Given the description of an element on the screen output the (x, y) to click on. 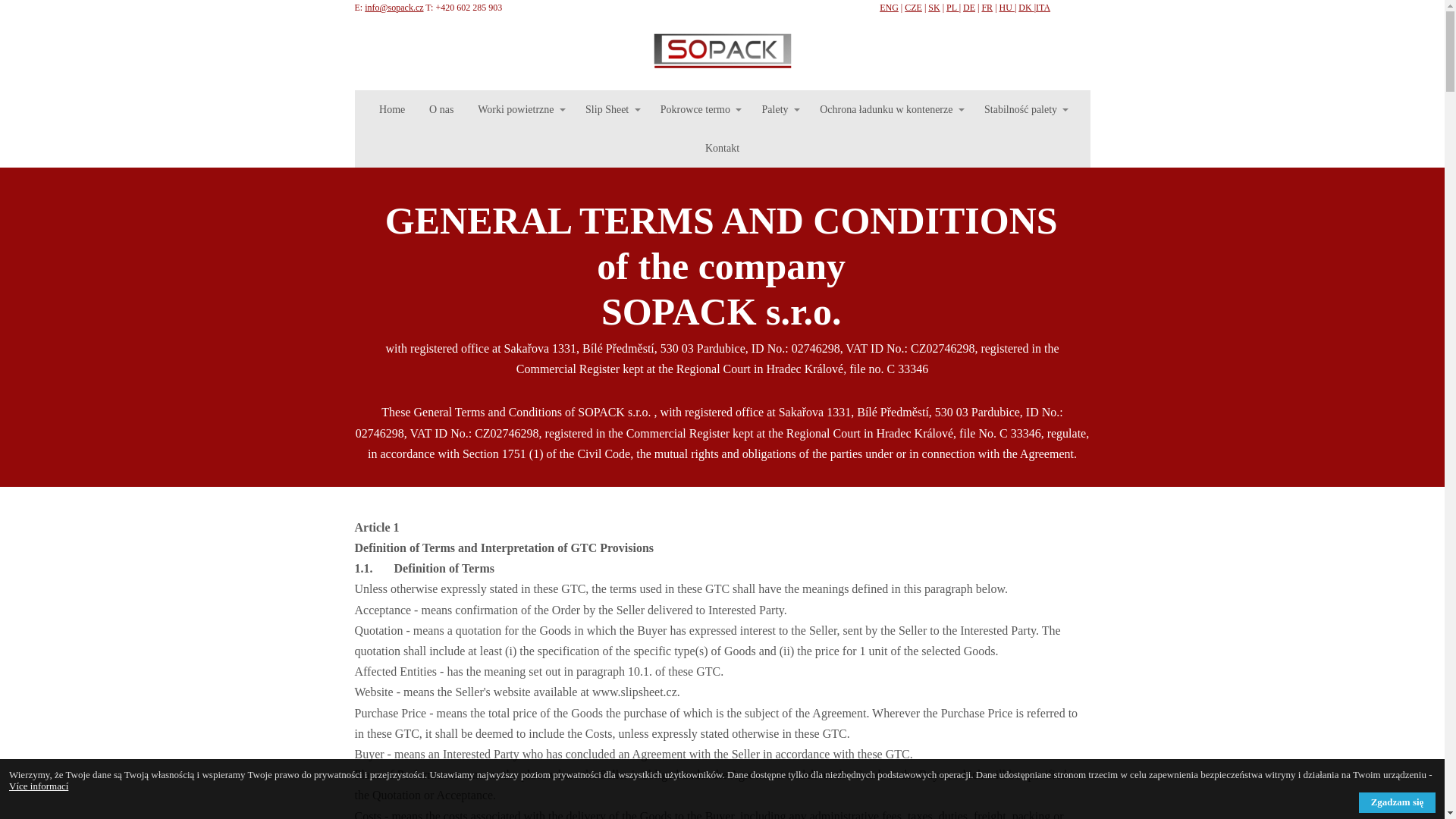
DE (968, 7)
HU  (1006, 7)
ENG (888, 7)
ITA (1042, 7)
Slip Sheet (610, 109)
PL  (952, 7)
CZE (912, 7)
Palety (778, 109)
Slip Sheet Polska (722, 52)
FR (986, 7)
